Given the description of an element on the screen output the (x, y) to click on. 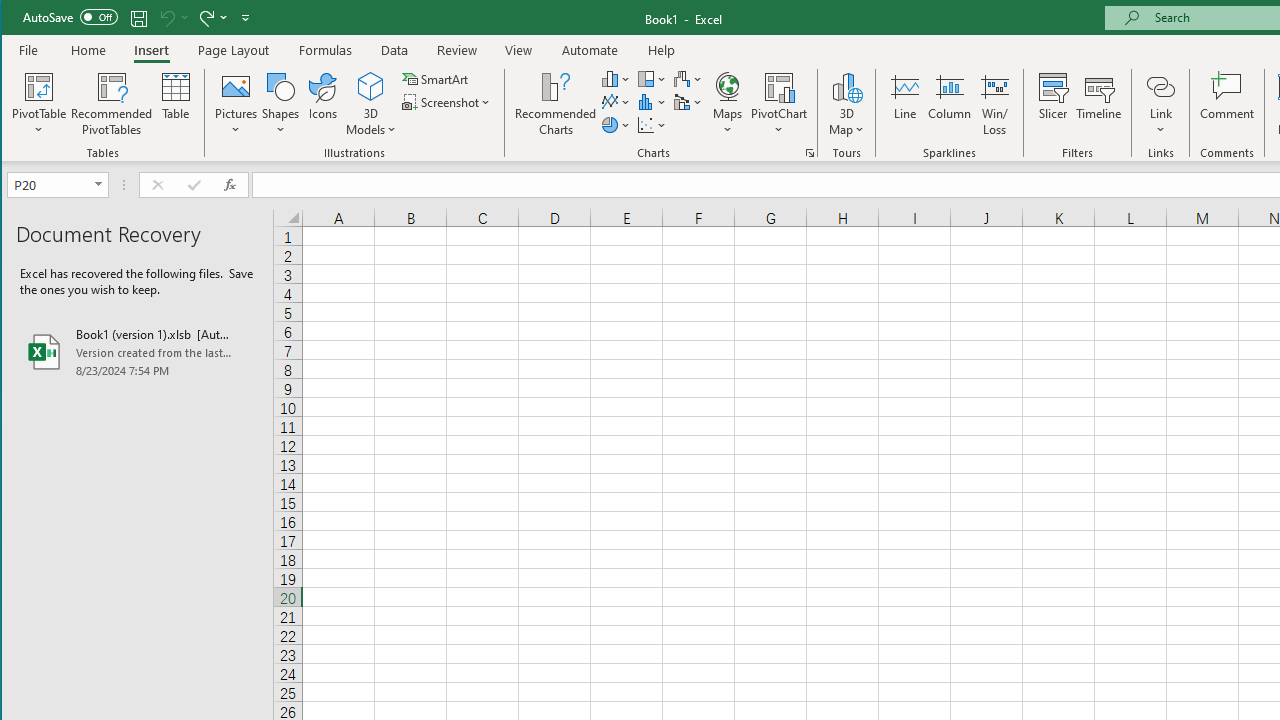
Insert Pie or Doughnut Chart (616, 124)
Open (99, 184)
Screenshot (447, 101)
File Tab (29, 49)
System (19, 18)
3D Models (371, 86)
Insert (151, 50)
Insert Statistic Chart (652, 101)
Name Box (57, 184)
Home (88, 50)
Slicer... (1052, 104)
Insert Column or Bar Chart (616, 78)
Insert Combo Chart (688, 101)
Table (175, 104)
PivotTable (39, 86)
